Given the description of an element on the screen output the (x, y) to click on. 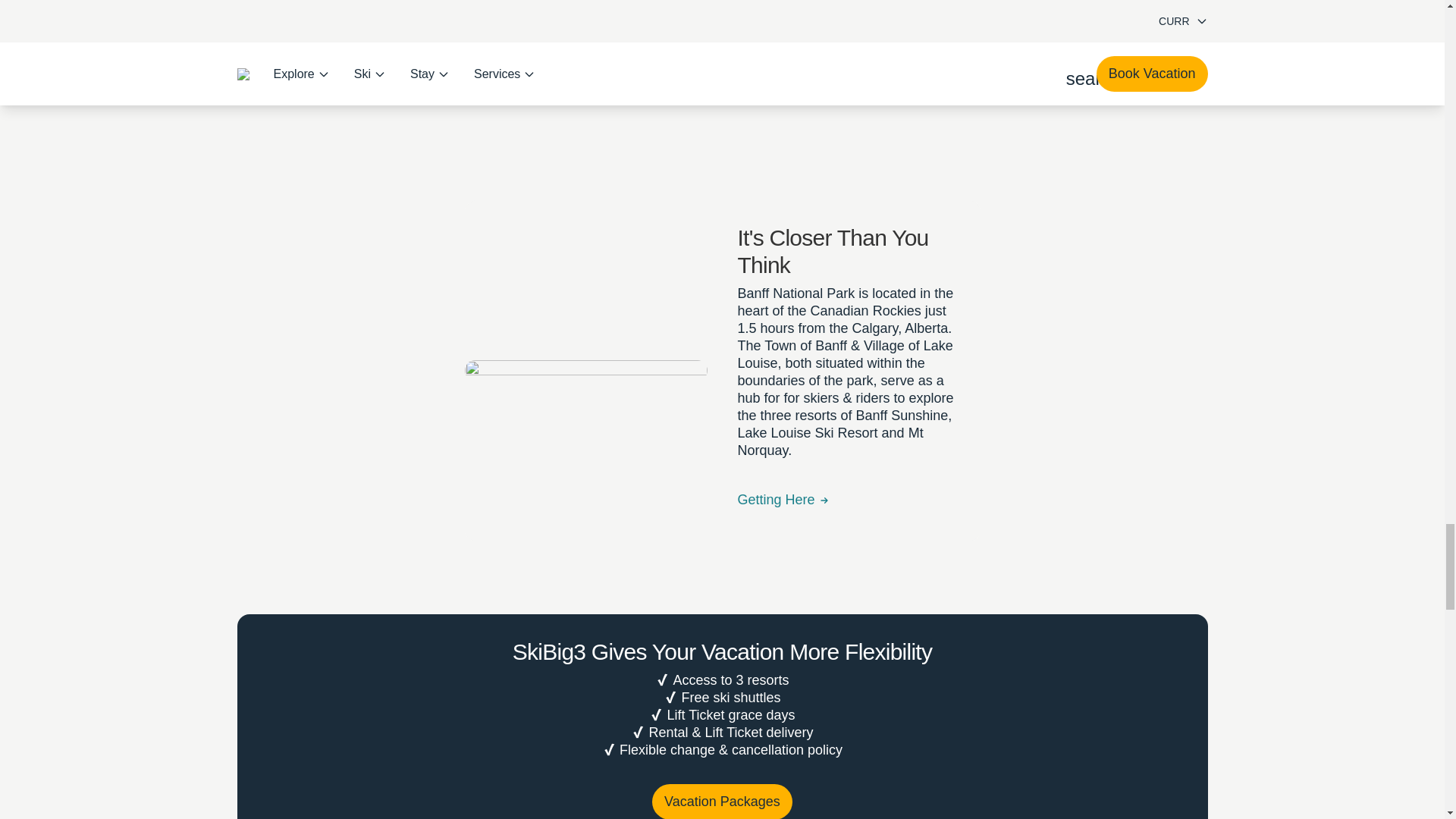
Vacation Packages (722, 811)
Vacation Packages (722, 811)
Getting Here (782, 453)
Getting Here (782, 453)
